Given the description of an element on the screen output the (x, y) to click on. 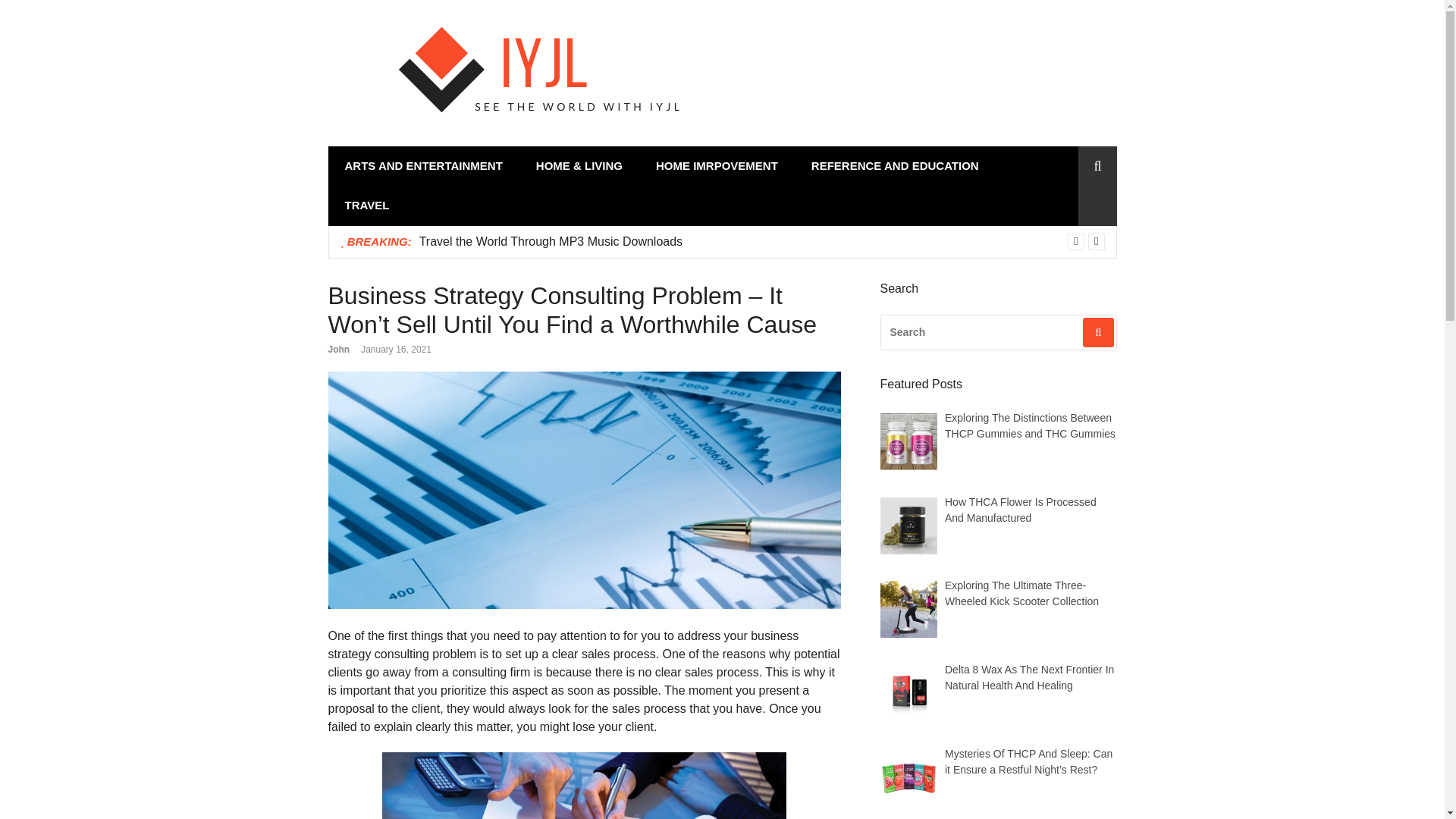
REFERENCE AND EDUCATION (894, 165)
Travel the World Through MP3 Music Downloads (550, 241)
ARTS AND ENTERTAINMENT (422, 165)
TRAVEL (366, 205)
Travel the World Through MP3 Music Downloads (550, 241)
Exploring The Ultimate Three-Wheeled Kick Scooter Collection (1021, 593)
HOME IMRPOVEMENT (716, 165)
John (338, 348)
How THCA Flower Is Processed And Manufactured (1020, 510)
